Given the description of an element on the screen output the (x, y) to click on. 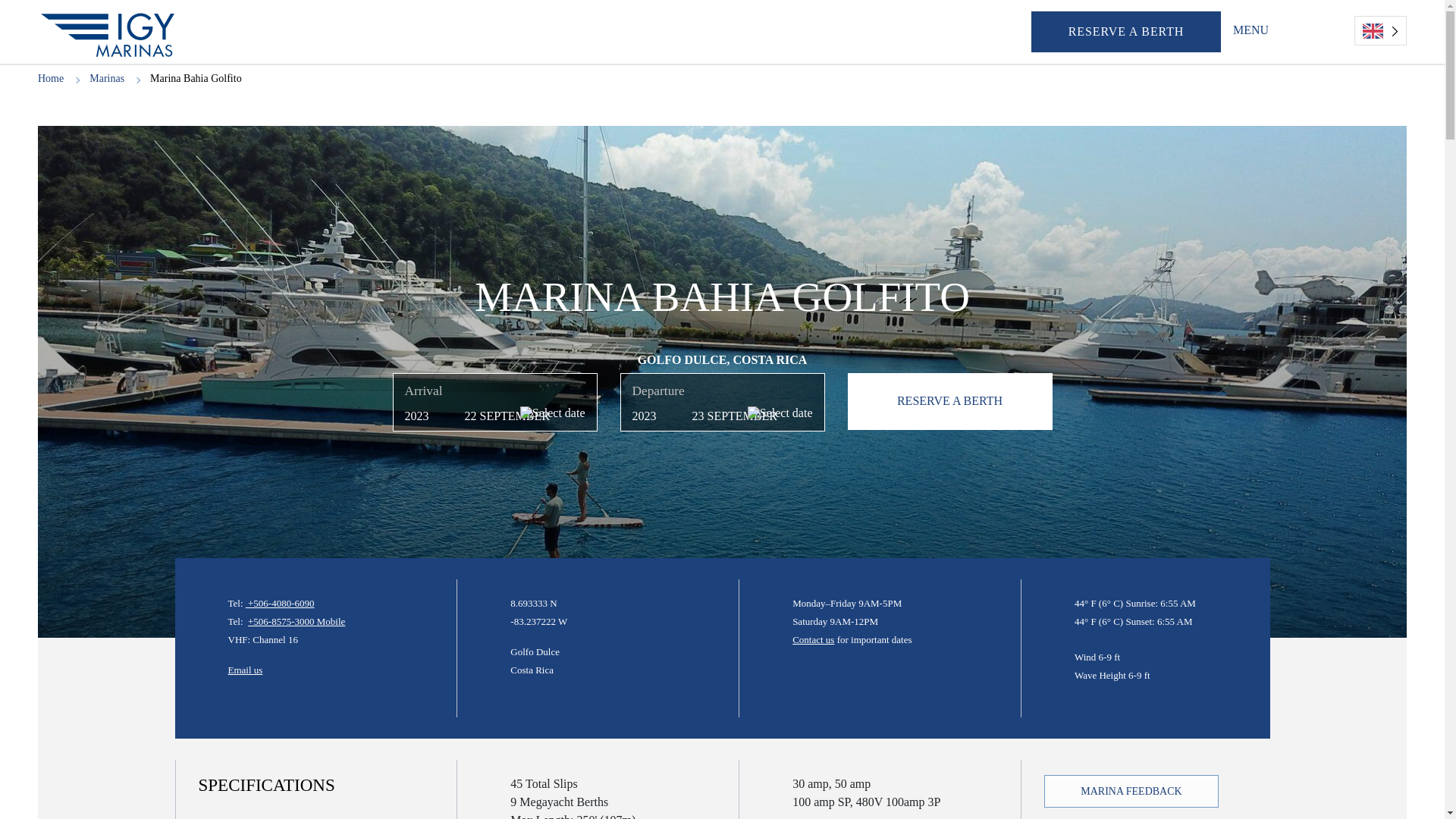
MENU (1253, 30)
RESERVE A BERTH (1125, 31)
Select date (552, 413)
Select date (780, 413)
